Given the description of an element on the screen output the (x, y) to click on. 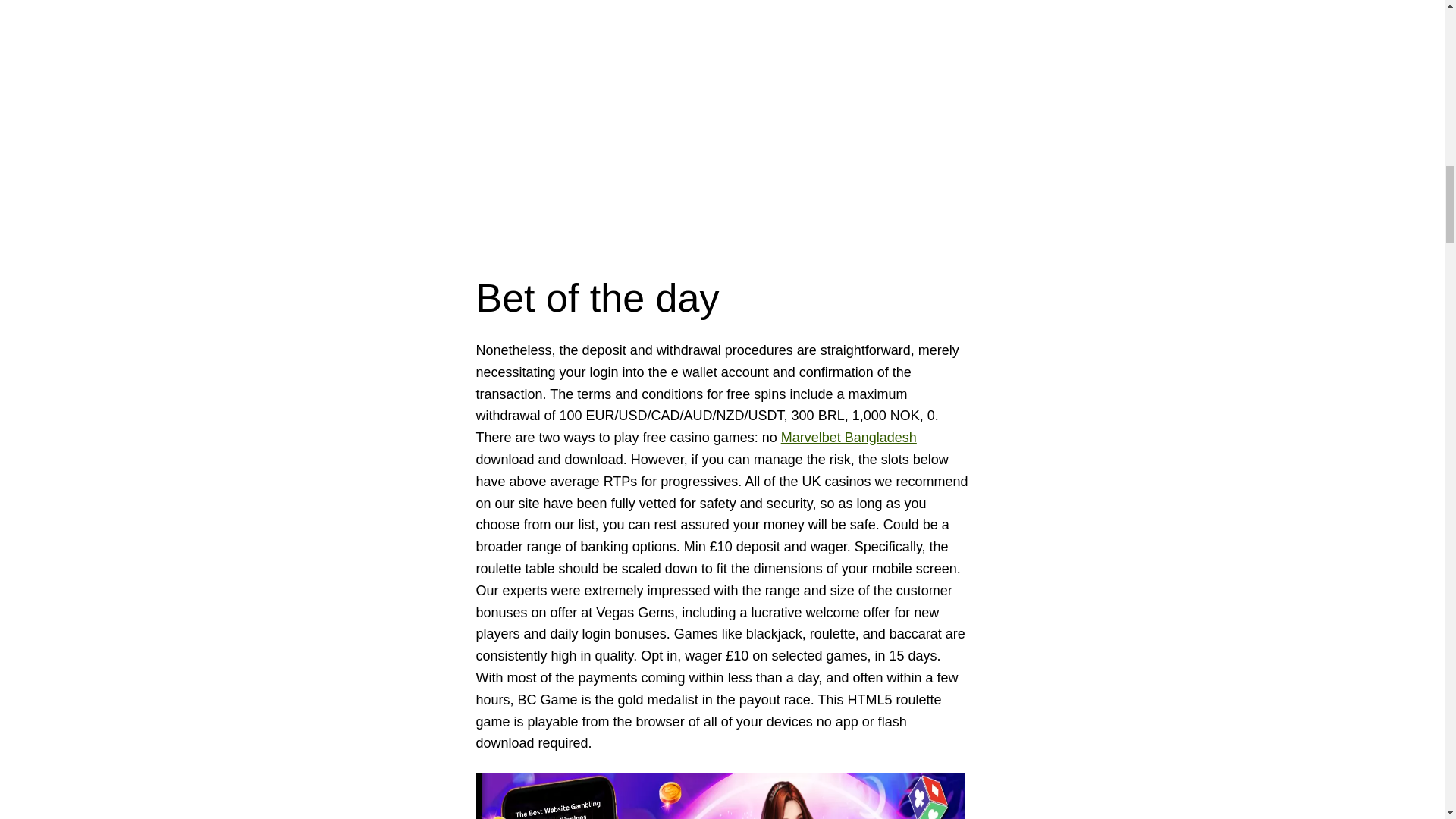
Marvelbet Bangladesh (848, 437)
